Given the description of an element on the screen output the (x, y) to click on. 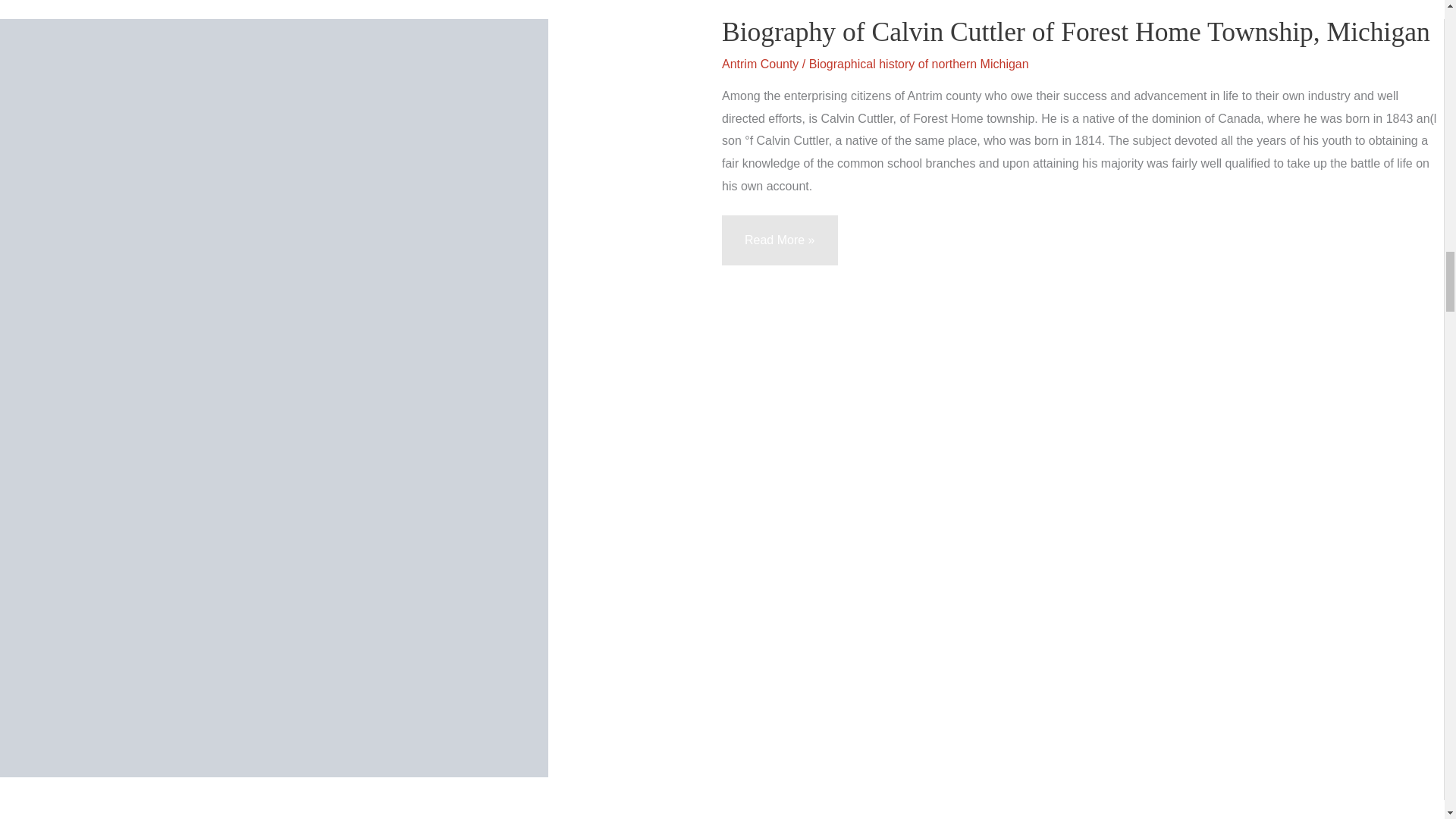
Biographical history of northern Michigan (919, 63)
Antrim County (759, 63)
